Given the description of an element on the screen output the (x, y) to click on. 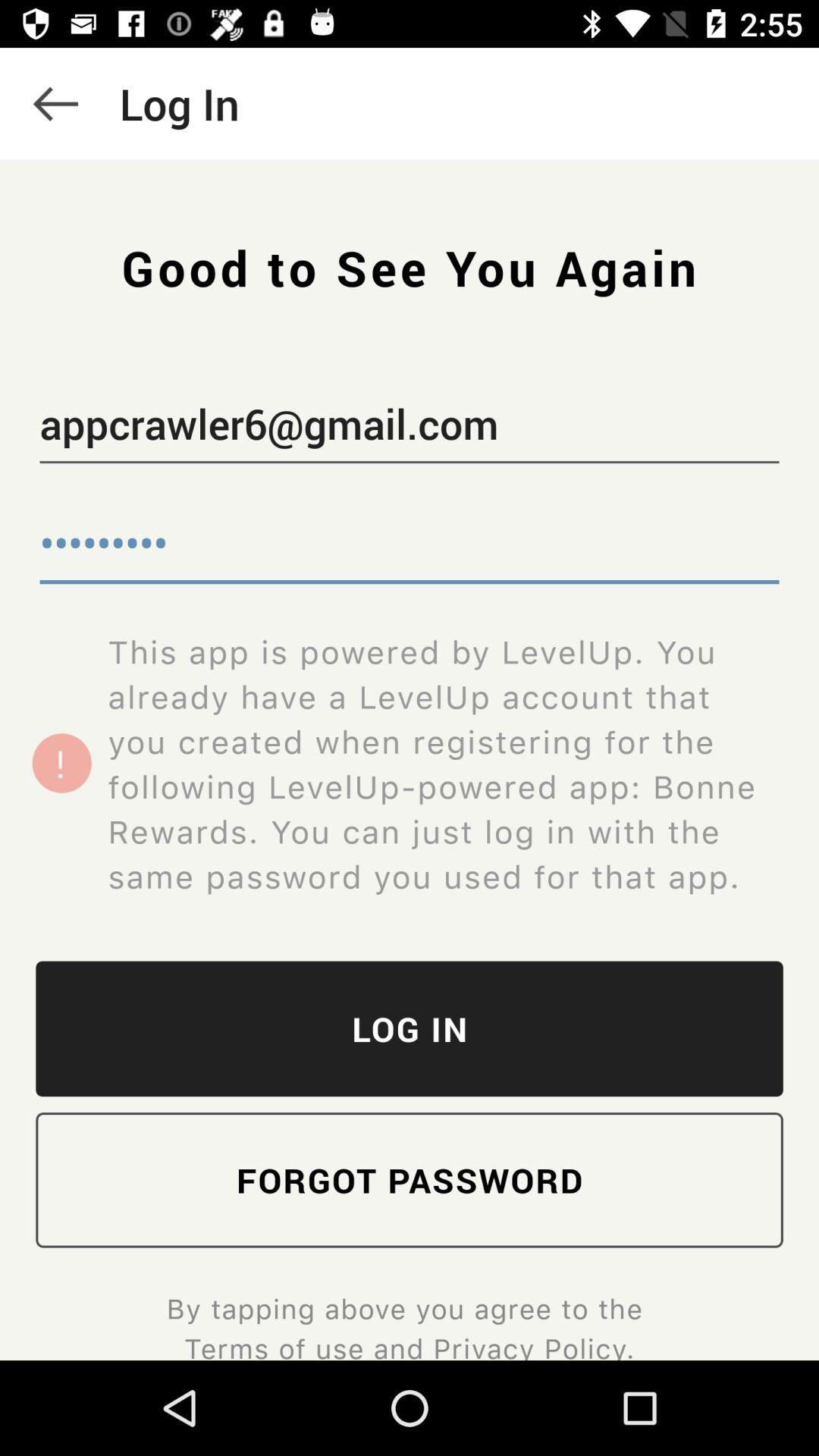
select the crowd3116 (409, 545)
